Given the description of an element on the screen output the (x, y) to click on. 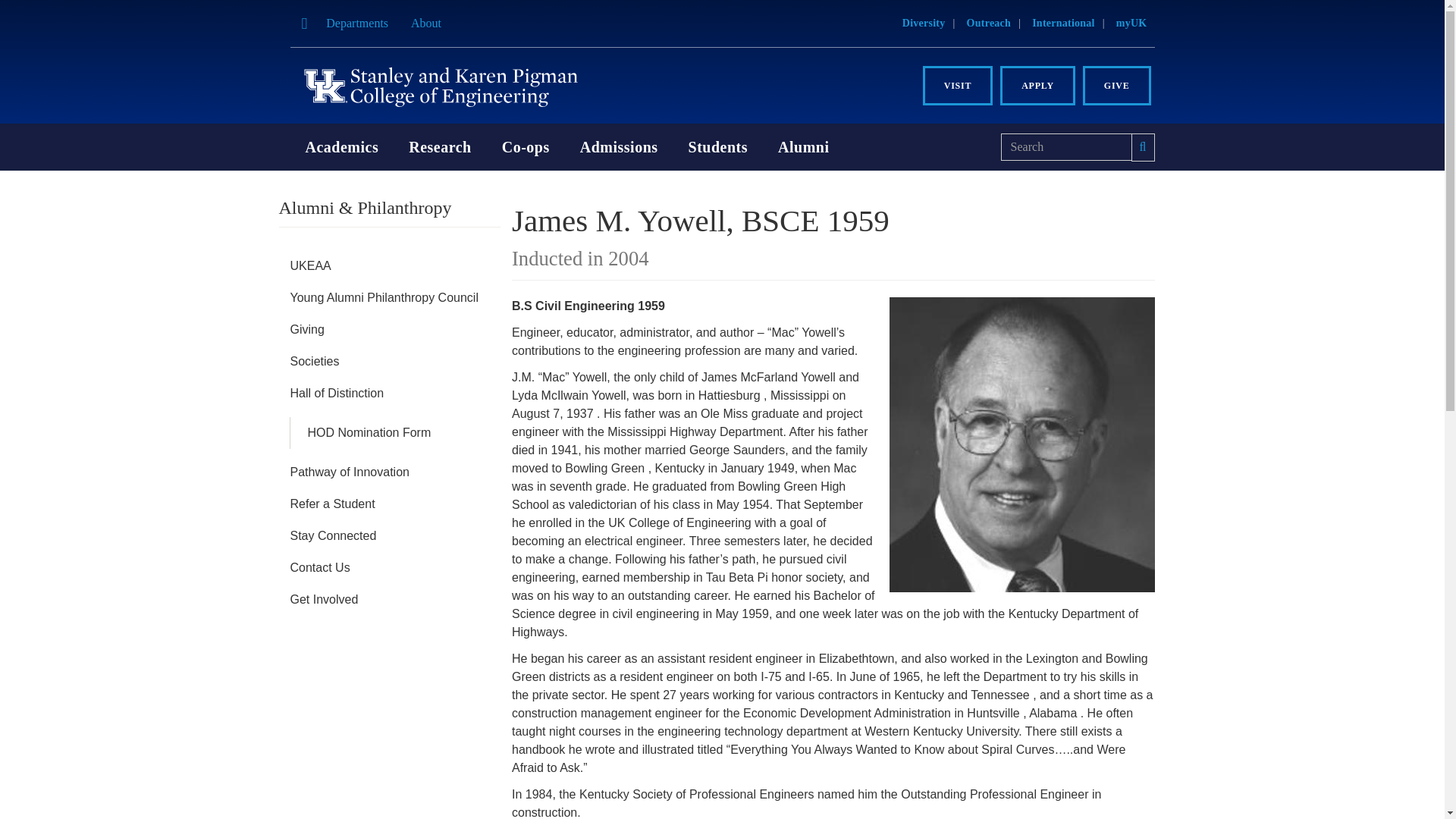
APPLY (1037, 85)
GIVE (1117, 85)
VISIT (957, 85)
Academics (341, 146)
Departments (356, 22)
Enter the terms you wish to search for. (1066, 146)
myUK (1131, 23)
International (1063, 23)
Diversity (923, 23)
Outreach (988, 23)
About (425, 22)
